Given the description of an element on the screen output the (x, y) to click on. 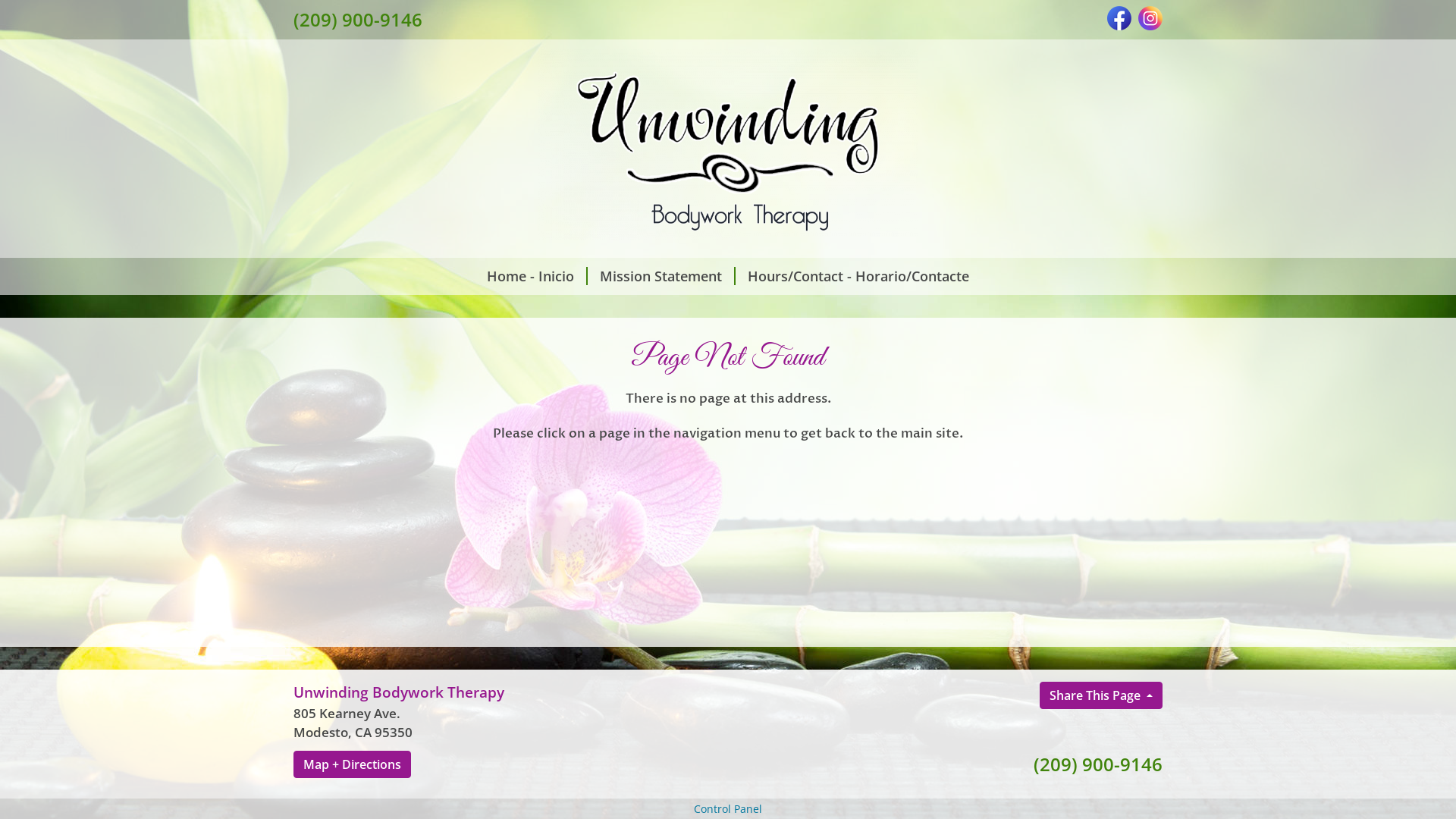
Mission Statement Element type: text (661, 275)
Hours/Contact - Horario/Contacte Element type: text (858, 275)
Home - Inicio Element type: text (530, 275)
Control Panel Element type: text (727, 808)
Share This Page Element type: text (1100, 695)
Map + Directions Element type: text (352, 764)
